Given the description of an element on the screen output the (x, y) to click on. 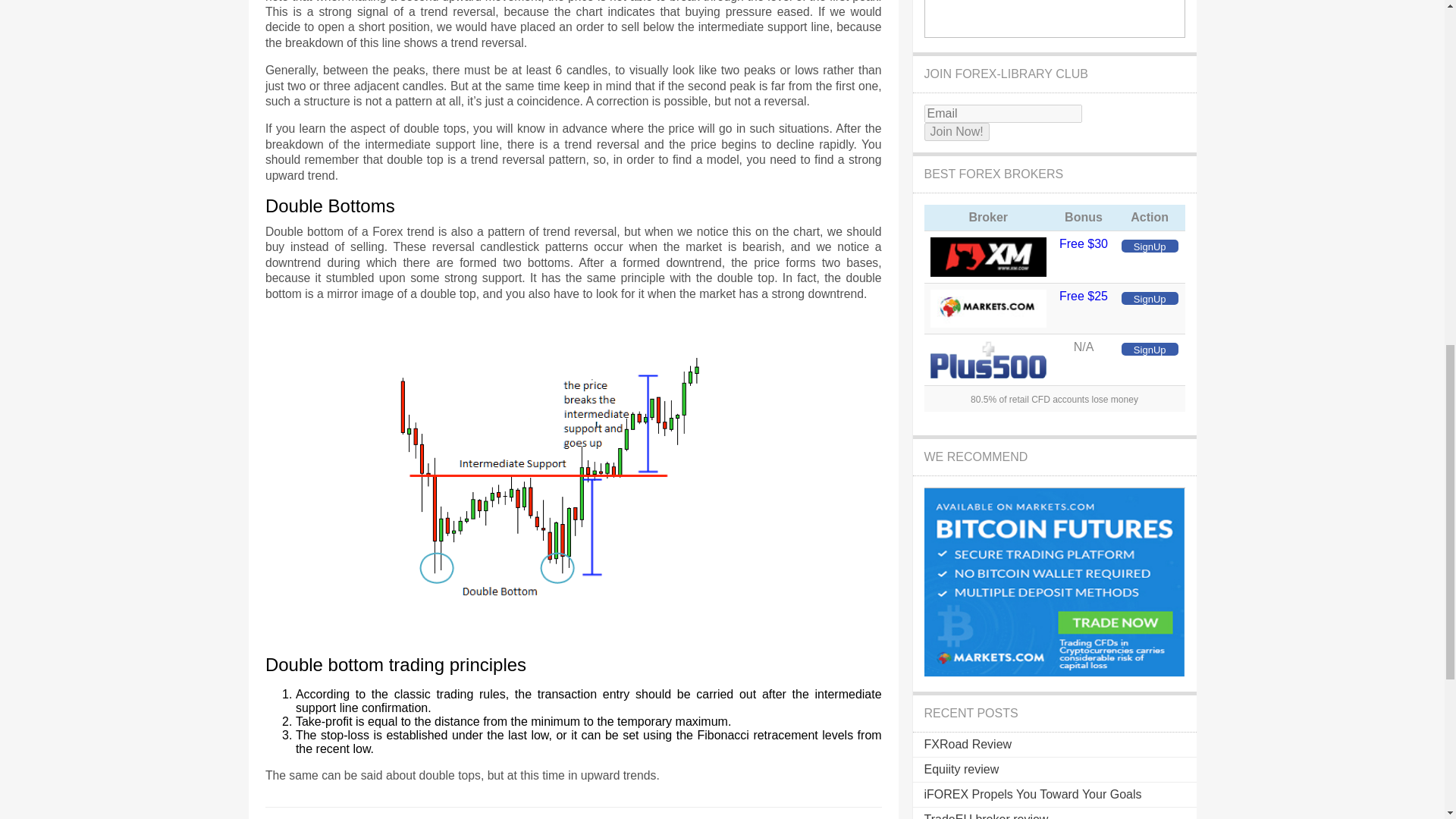
SignUp (1149, 245)
Join Now! (955, 131)
SignUp (1149, 349)
Join Now! (955, 131)
SignUp (1149, 297)
